Given the description of an element on the screen output the (x, y) to click on. 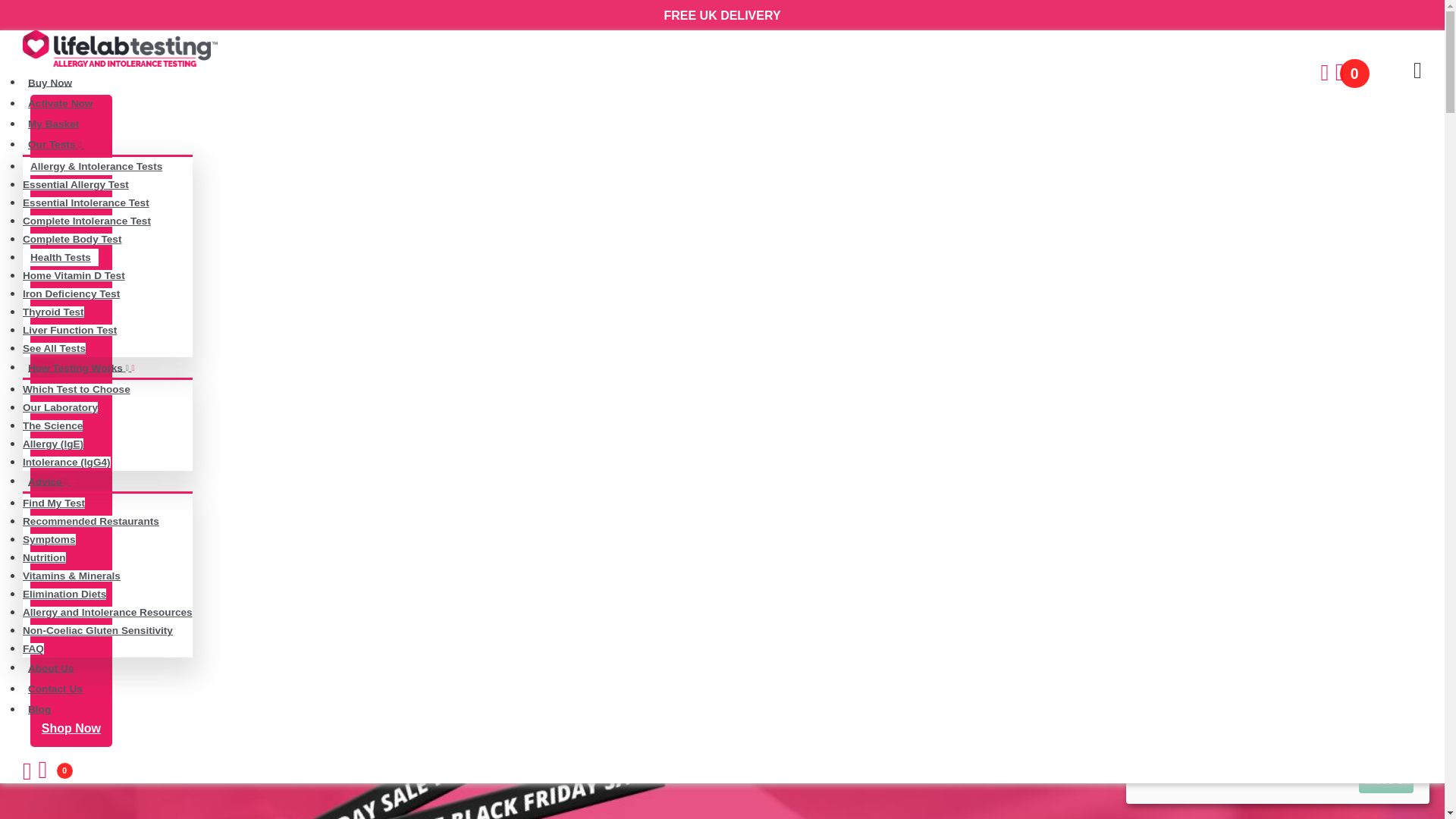
The Science (52, 425)
Non-Coeliac Gluten Sensitivity (98, 630)
Our Tests    (58, 144)
Complete Intolerance Test (87, 220)
Complete Body Test (71, 238)
Lifelab testing (119, 48)
Activate Now (60, 103)
Essential Intolerance Test (86, 202)
Complete Intolerance Test (87, 220)
Health Tests (61, 257)
Symptoms (49, 539)
About Us (50, 668)
Our Tests (58, 144)
My Basket (53, 123)
Home Vitamin D Test (74, 275)
